Given the description of an element on the screen output the (x, y) to click on. 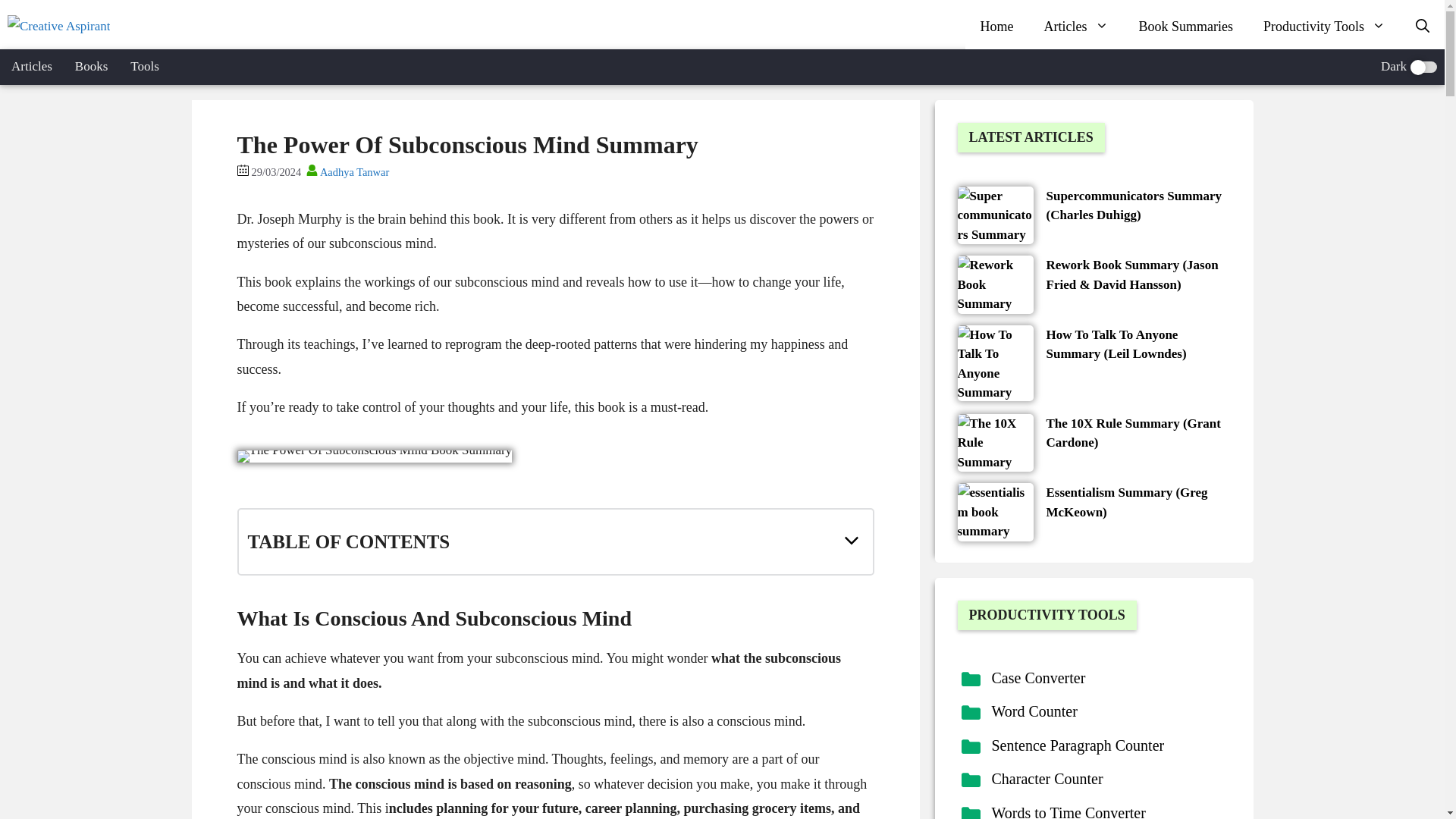
Articles (1076, 26)
Productivity Tools (1323, 26)
Articles (32, 67)
Home (997, 26)
View all posts by Aadhya Tanwar (346, 172)
Tools (144, 67)
Books (91, 67)
Book Summaries (1186, 26)
Aadhya Tanwar (346, 172)
